Given the description of an element on the screen output the (x, y) to click on. 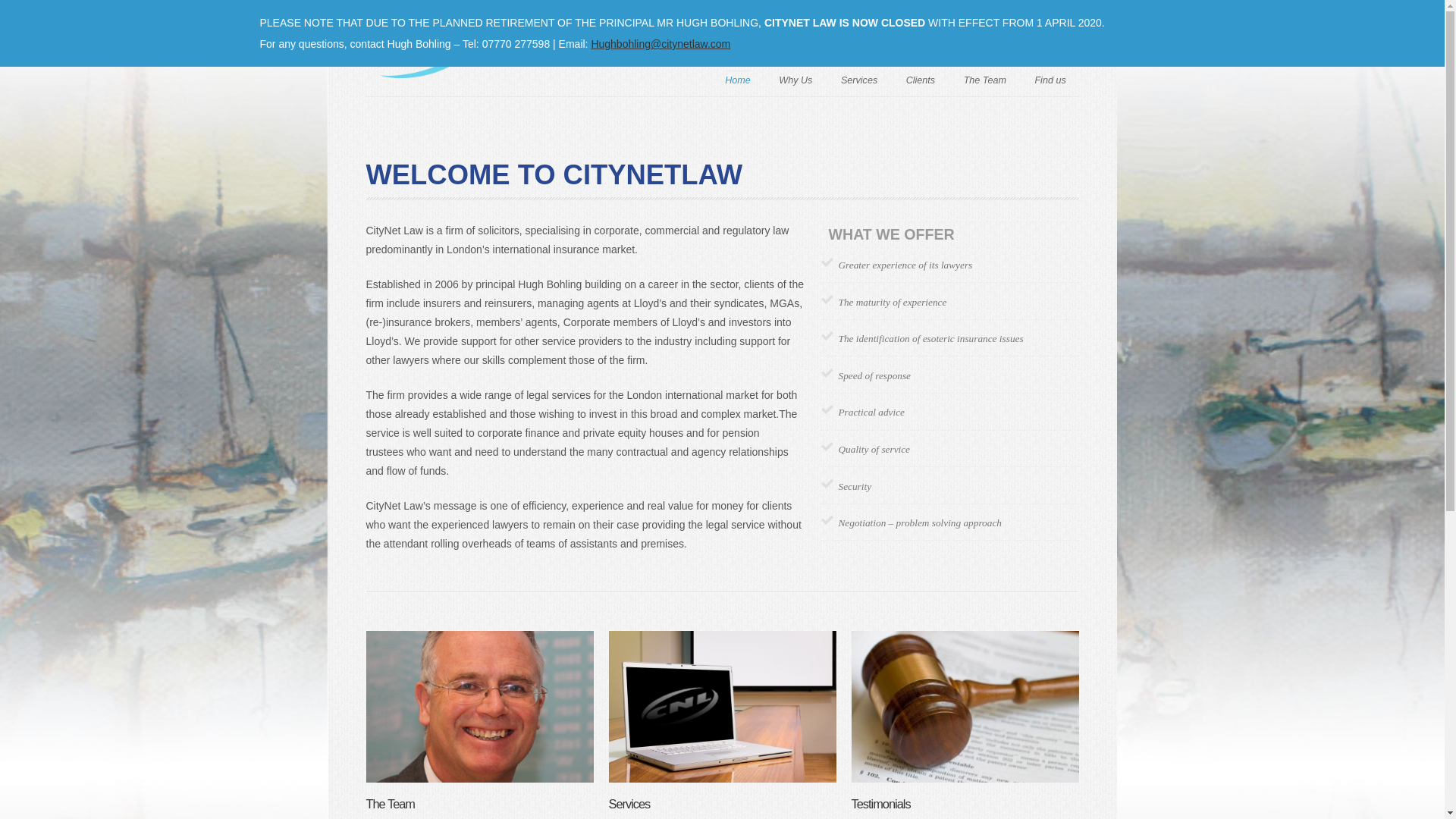
The Team (389, 803)
Clients (920, 78)
Testimonials (880, 803)
Skip to content (643, 79)
The Team (984, 78)
Skip to content (643, 79)
Why CityNet Law (795, 78)
Services (628, 803)
Services (859, 78)
Why Us (795, 78)
